Given the description of an element on the screen output the (x, y) to click on. 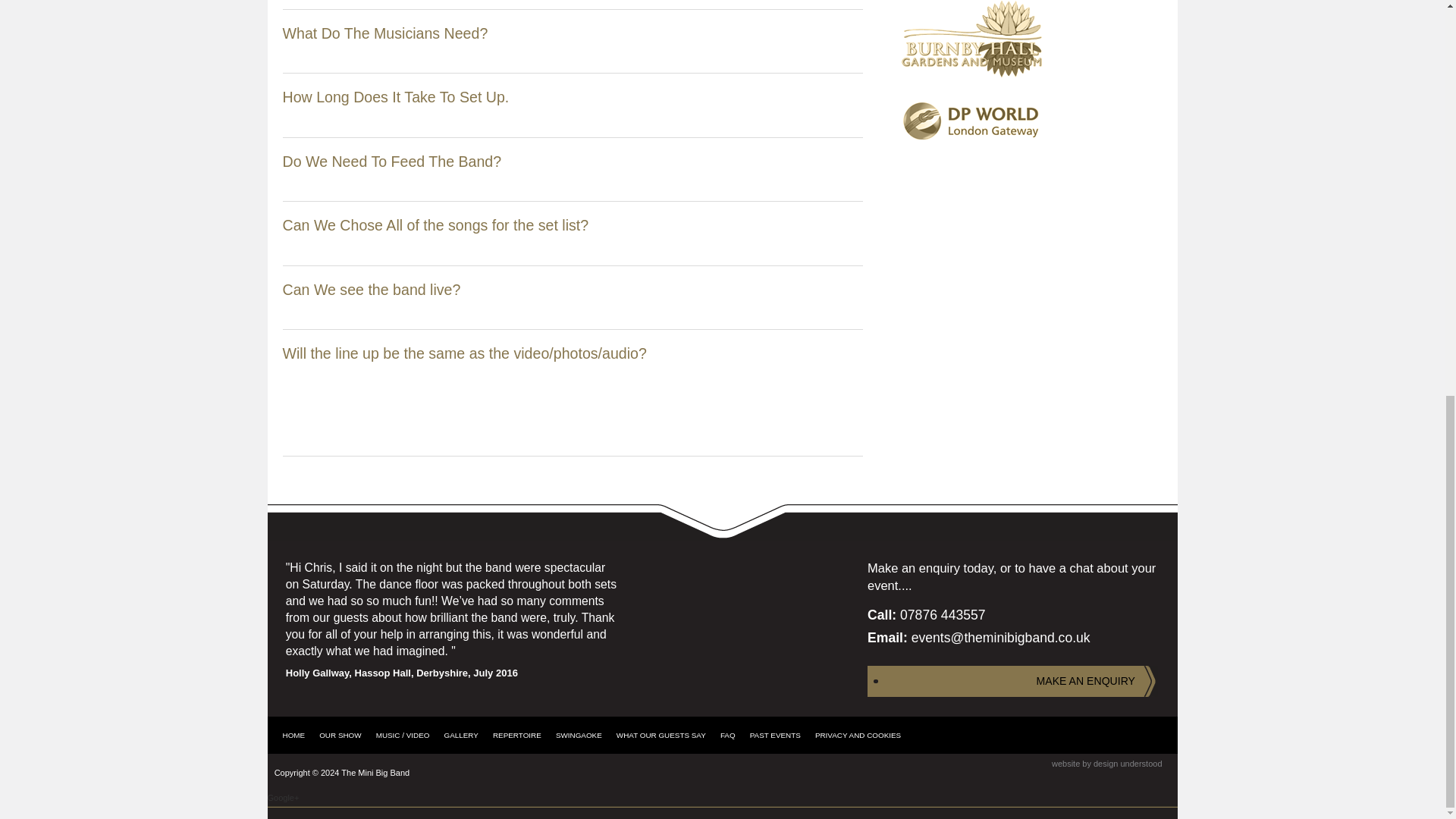
GALLERY (461, 735)
PRIVACY AND COOKIES (858, 735)
SWINGAOKE (579, 735)
MAKE AN ENQUIRY (1012, 680)
WHAT OUR GUESTS SAY (660, 735)
HOME (296, 735)
website by design understood (1106, 763)
REPERTOIRE (516, 735)
PAST EVENTS (775, 735)
FAQ (727, 735)
